Given the description of an element on the screen output the (x, y) to click on. 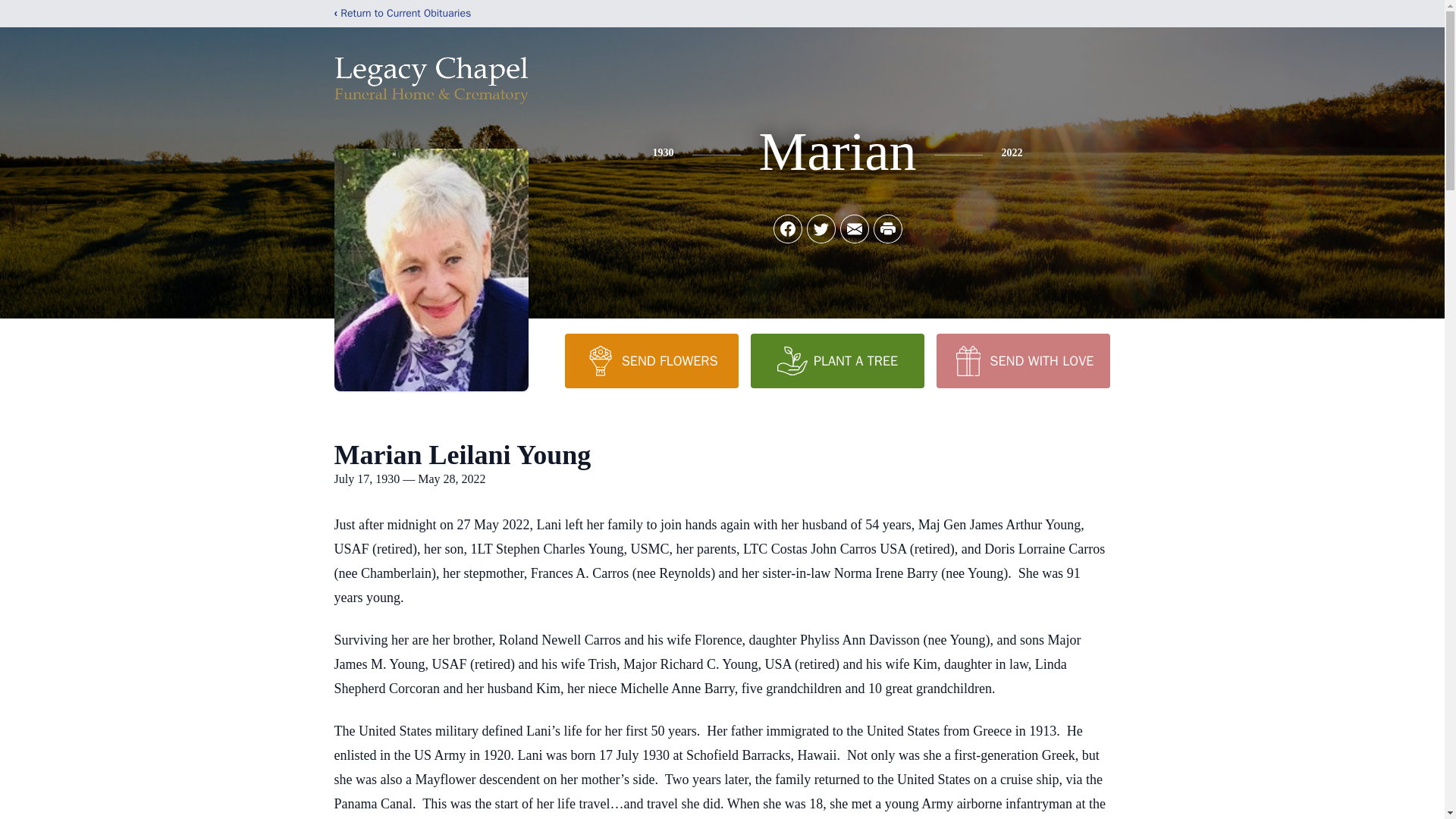
SEND FLOWERS (651, 360)
PLANT A TREE (837, 360)
SEND WITH LOVE (1022, 360)
